Given the description of an element on the screen output the (x, y) to click on. 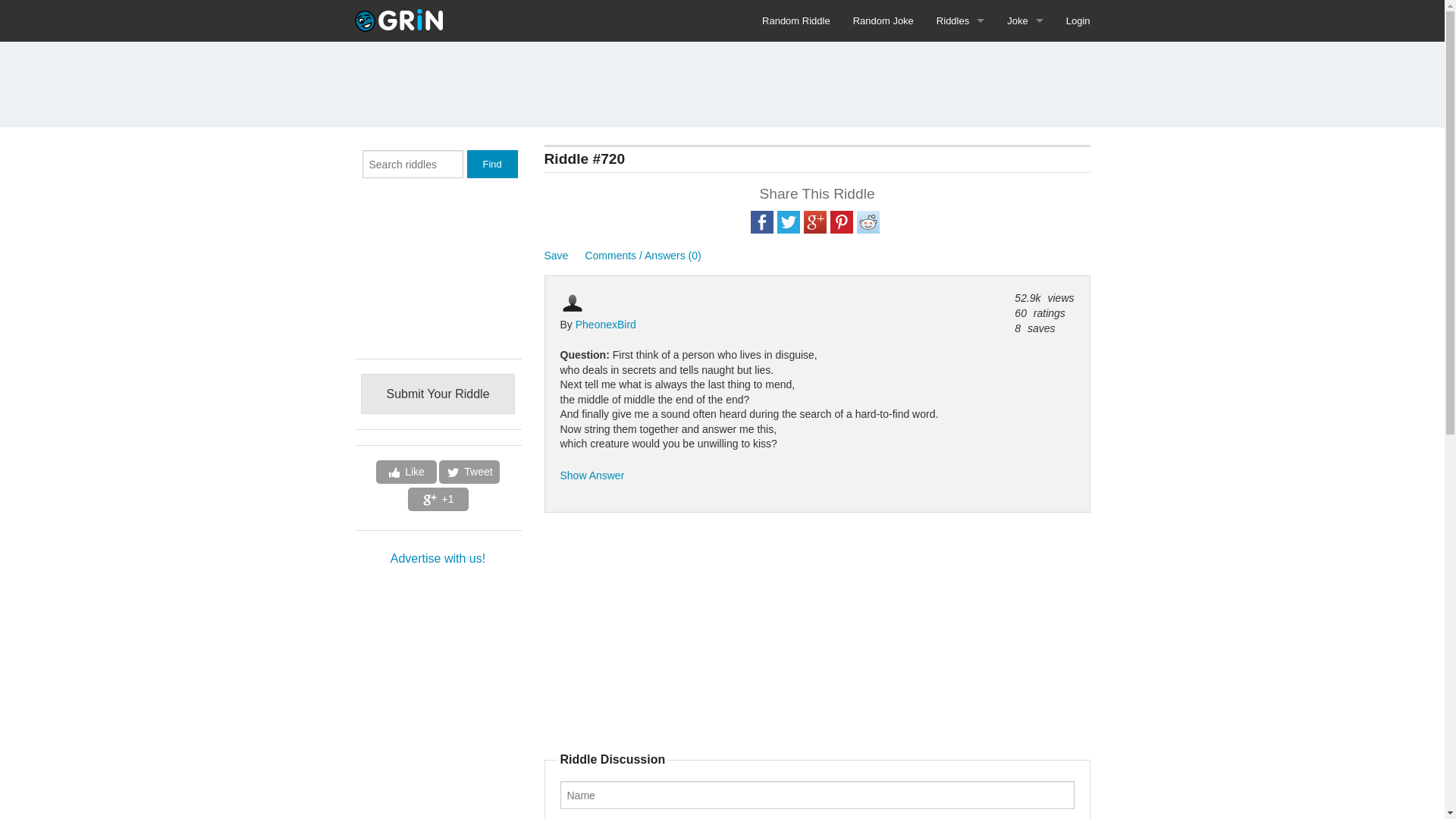
Random Joke (882, 20)
Joke (1024, 20)
Find (492, 163)
Try a random riddle (796, 20)
Random Riddle (796, 20)
Riddles (959, 20)
Login (1078, 20)
Try a random joke (882, 20)
